Given the description of an element on the screen output the (x, y) to click on. 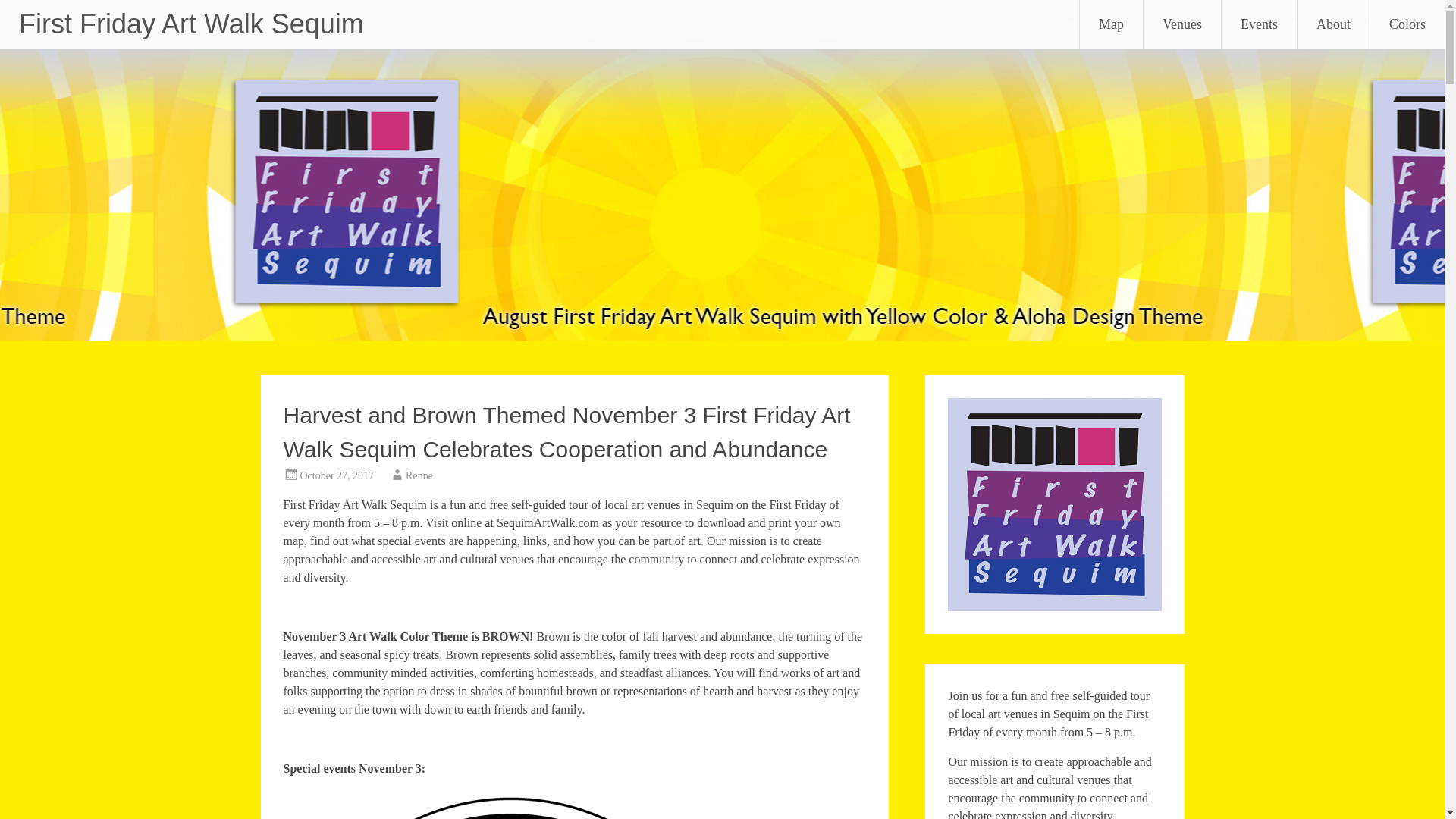
First Friday Art Walk Sequim (191, 23)
First Friday Art Walk Sequim (191, 23)
October 27, 2017 (336, 475)
Venues (1181, 24)
Events (1259, 24)
Renne (419, 475)
About (1333, 24)
Map (1111, 24)
